Given the description of an element on the screen output the (x, y) to click on. 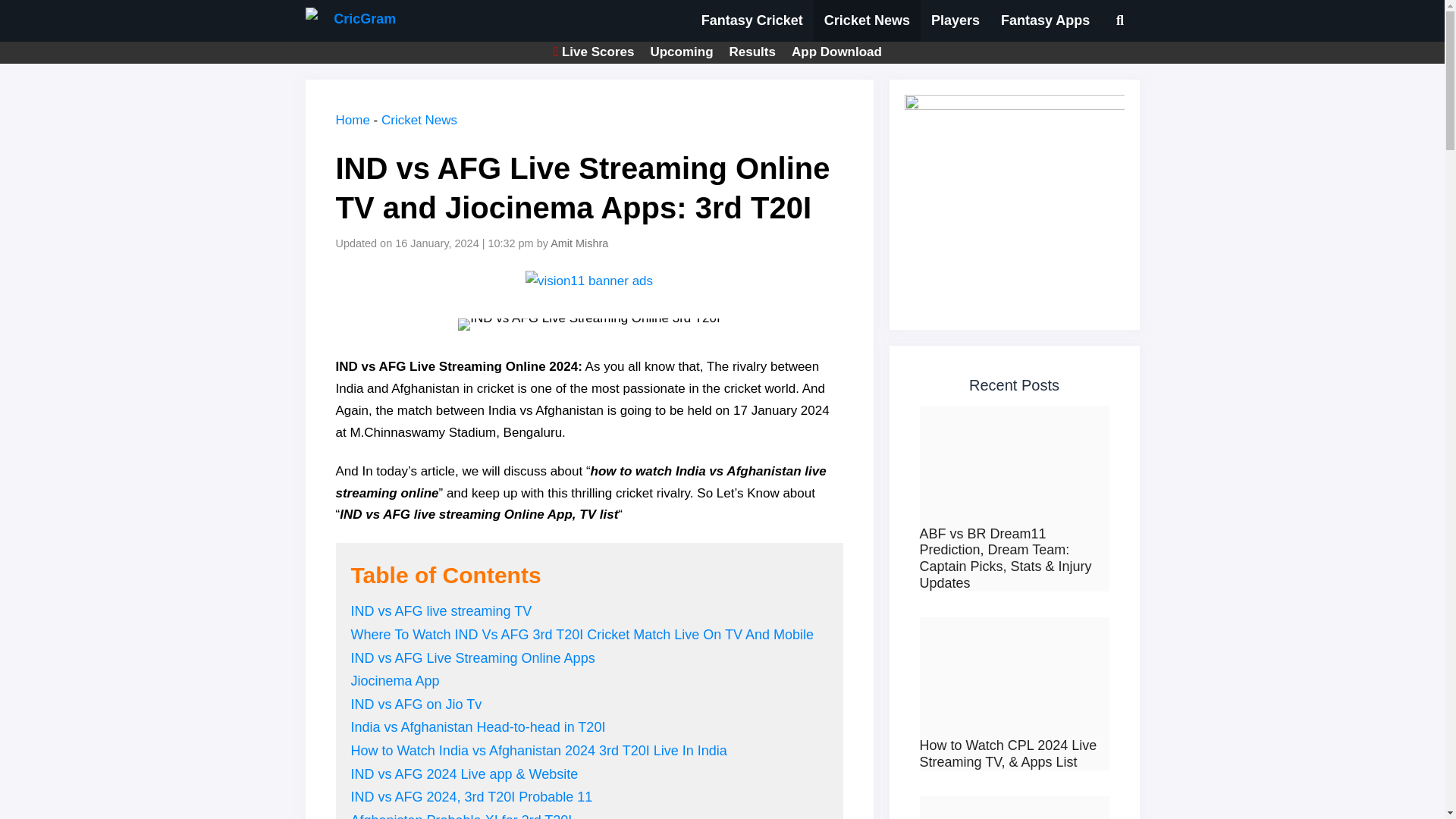
Upcoming (681, 51)
App Download (837, 51)
Amit Mishra (580, 243)
IND vs AFG on Jio Tv (415, 703)
IND vs AFG 2024, 3rd T20I Probable 11 (471, 796)
IND vs AFG live streaming TV (440, 611)
Fantasy Apps (1045, 20)
Jiocinema App (394, 680)
Players (955, 20)
